Given the description of an element on the screen output the (x, y) to click on. 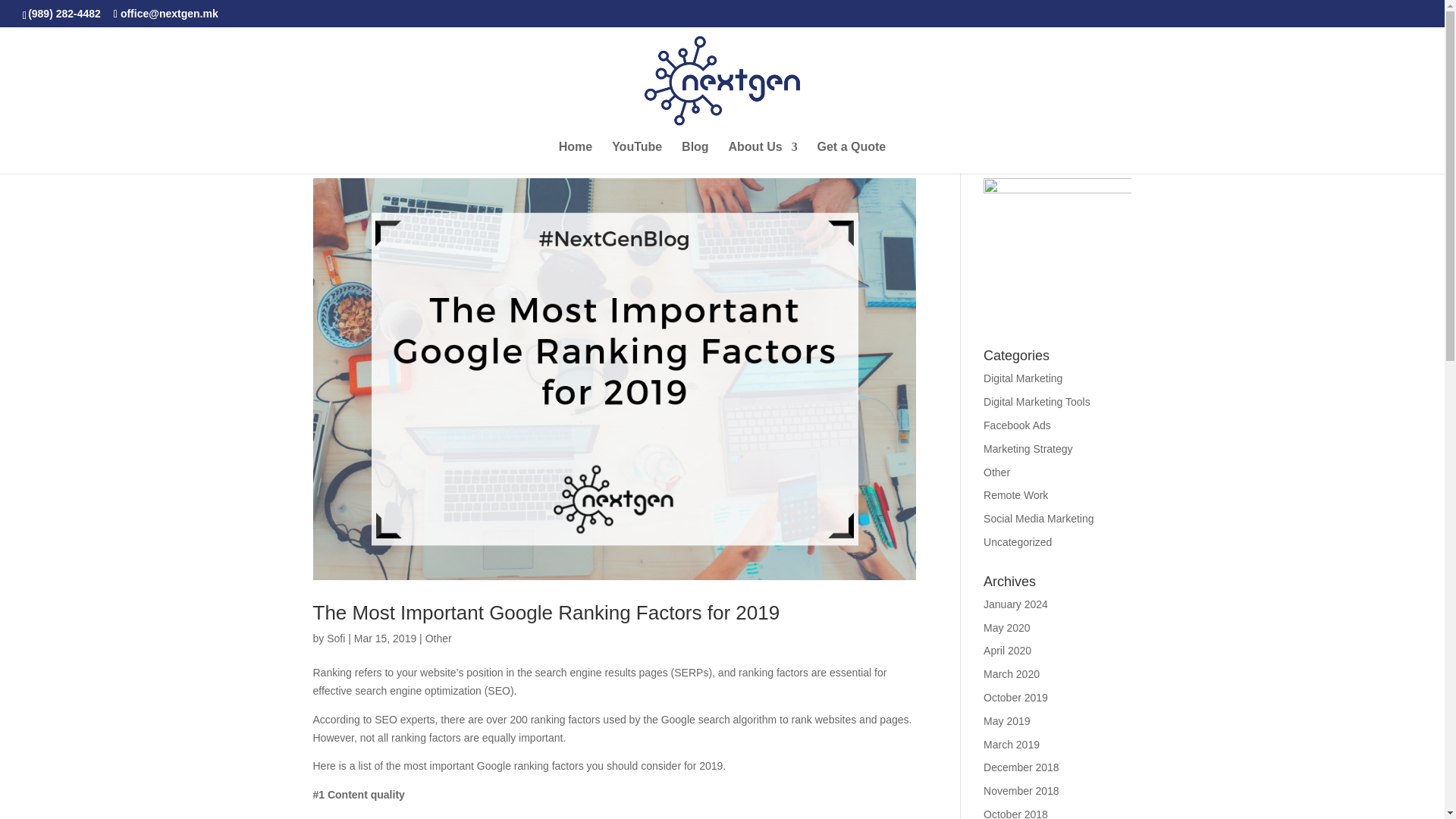
Other (997, 472)
YouTube (636, 157)
March 2019 (1011, 744)
October 2019 (1016, 697)
January 2024 (1016, 604)
November 2018 (1021, 790)
Facebook Ads (1017, 425)
Get a Quote (851, 157)
Uncategorized (1017, 541)
Home (575, 157)
